Given the description of an element on the screen output the (x, y) to click on. 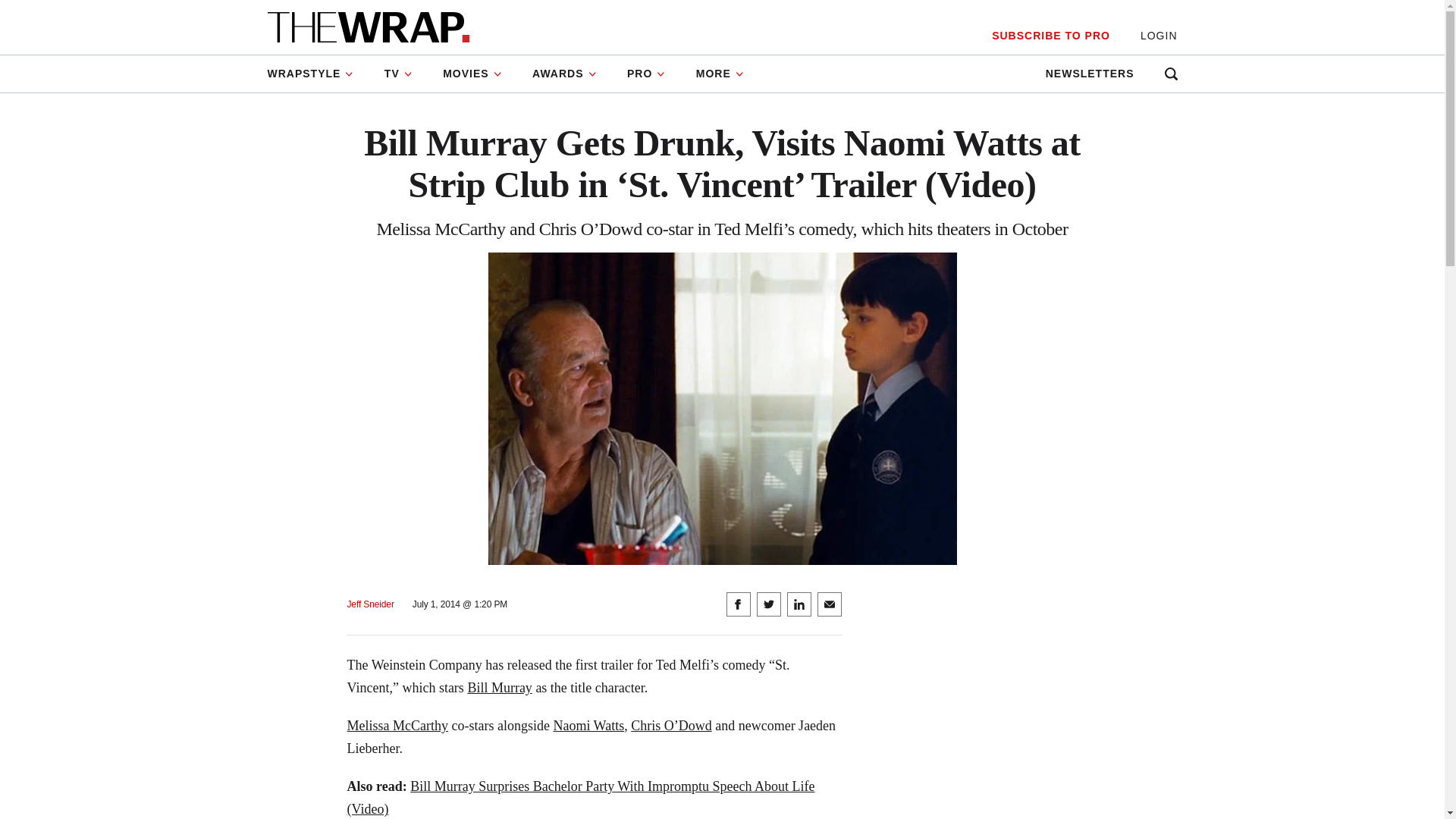
AWARDS (563, 73)
SUBSCRIBE TO PRO (1050, 35)
TV (398, 73)
WRAPSTYLE (317, 73)
LOGIN (1158, 35)
See all Naomi Watts (588, 725)
MOVIES (472, 73)
See all Chris O'Dowd (670, 725)
Posts by Jeff Sneider (370, 604)
PRO (646, 73)
See all Bill Murray (499, 687)
See all Melissa McCarthy (397, 725)
MORE (719, 73)
